Given the description of an element on the screen output the (x, y) to click on. 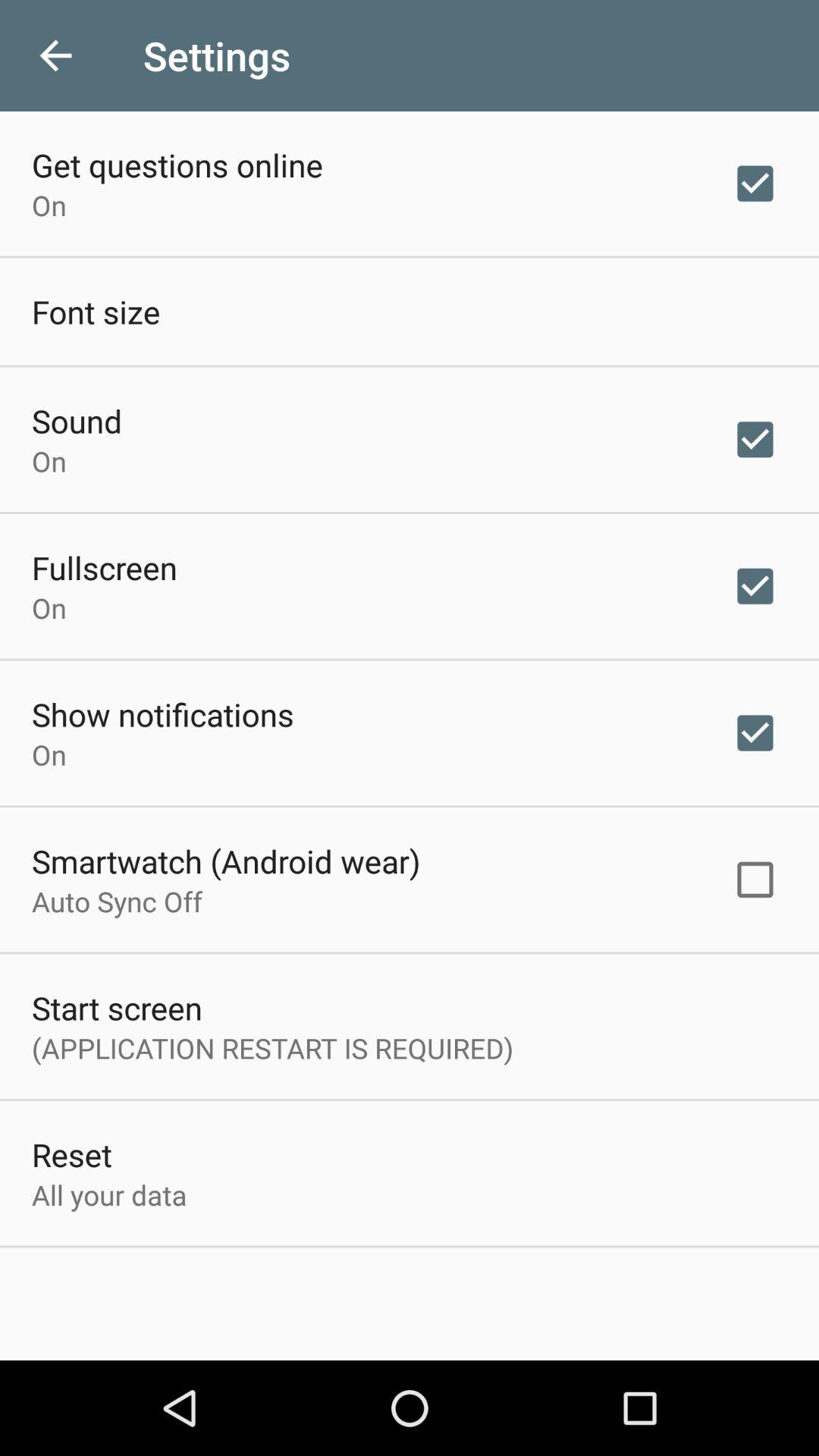
launch the icon below on item (225, 860)
